Given the description of an element on the screen output the (x, y) to click on. 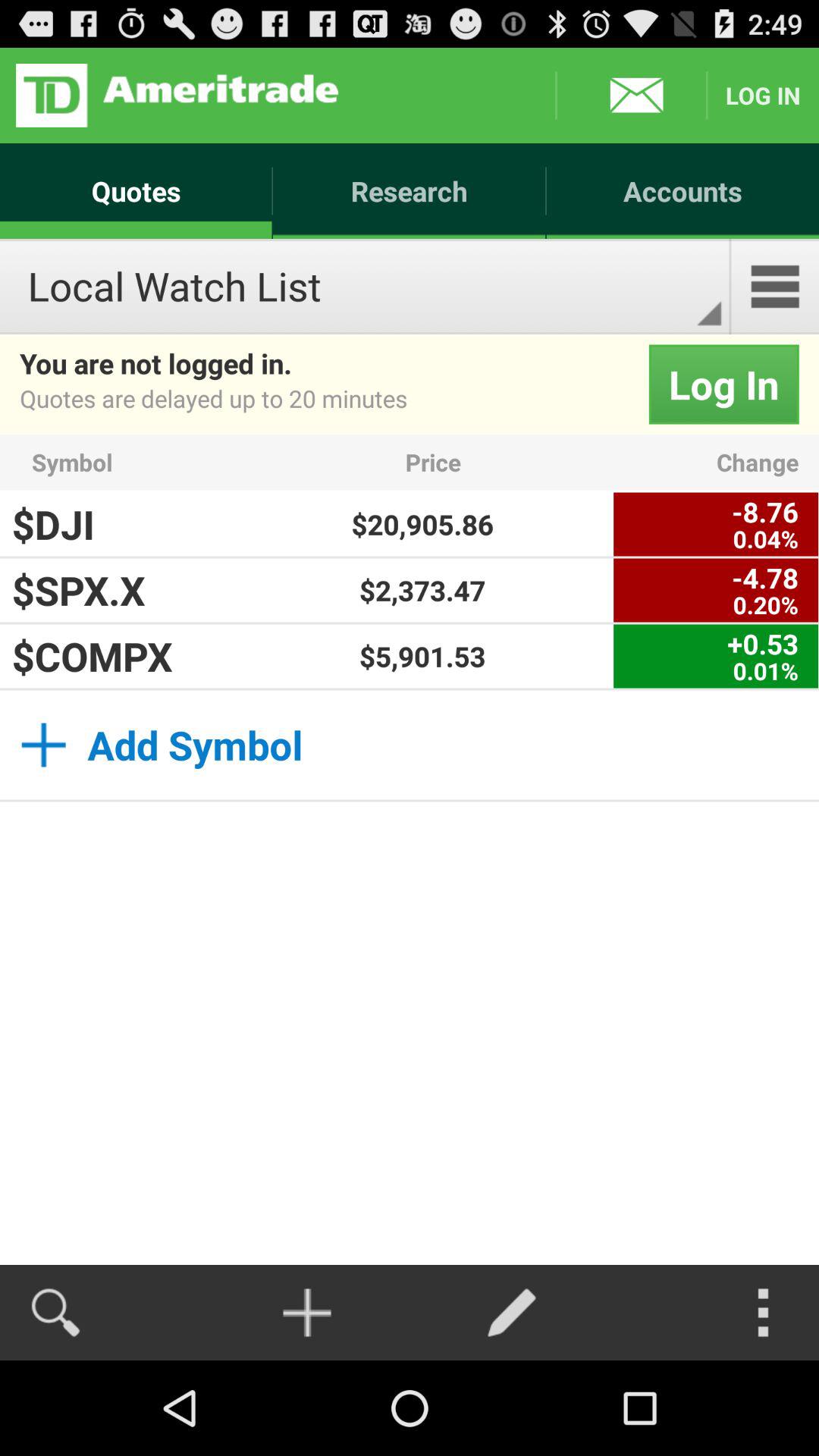
tap icon next to $compx (422, 656)
